Given the description of an element on the screen output the (x, y) to click on. 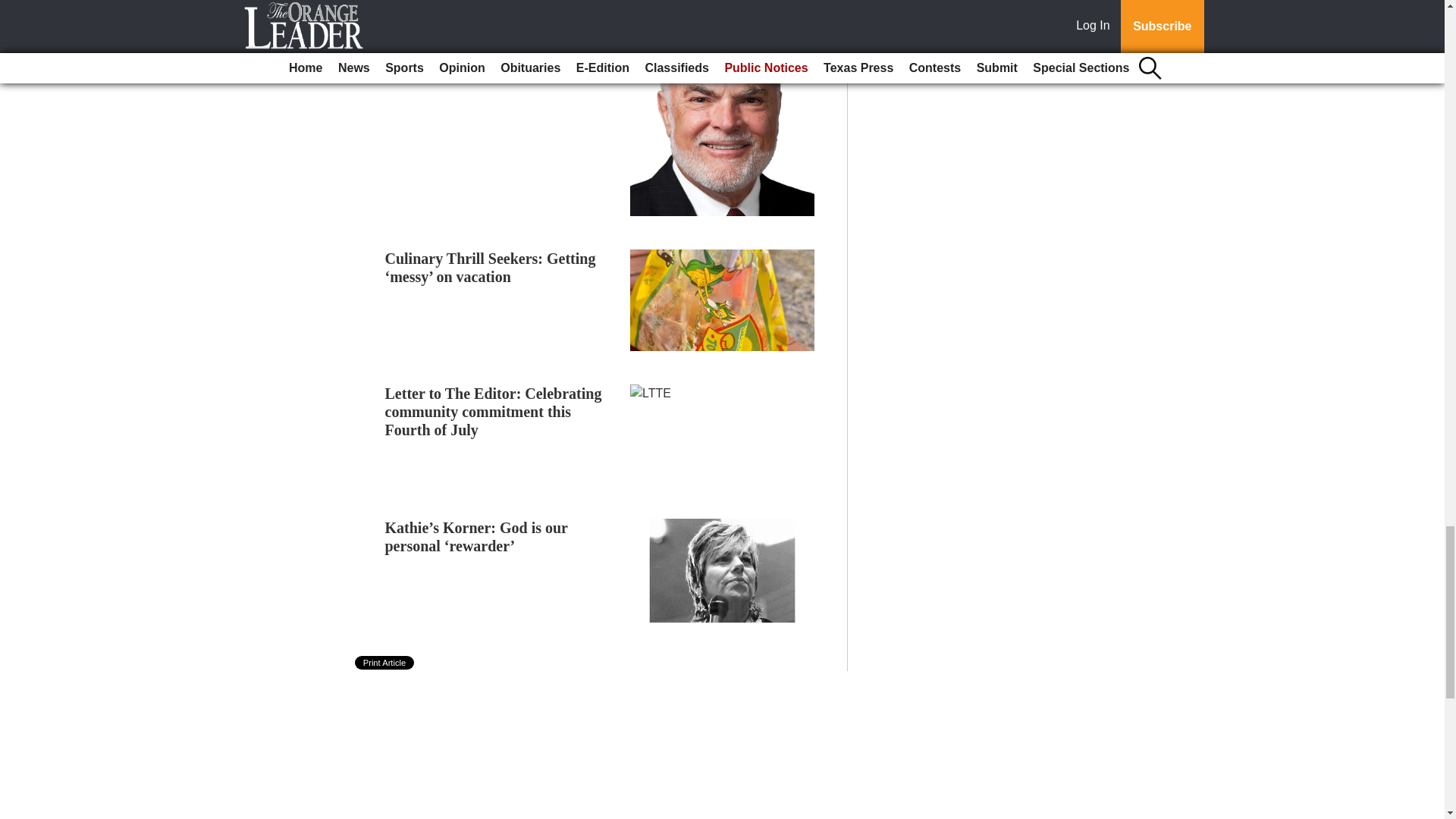
Five things to know about this week (501, 33)
Five things to know about this week (501, 33)
Print Article (384, 662)
